Given the description of an element on the screen output the (x, y) to click on. 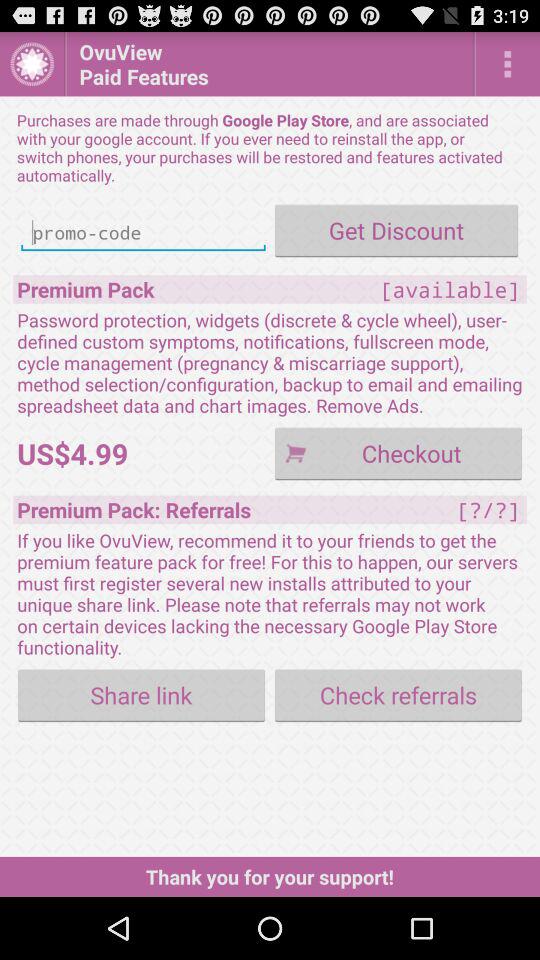
turn on the icon next to check referrals button (141, 694)
